Given the description of an element on the screen output the (x, y) to click on. 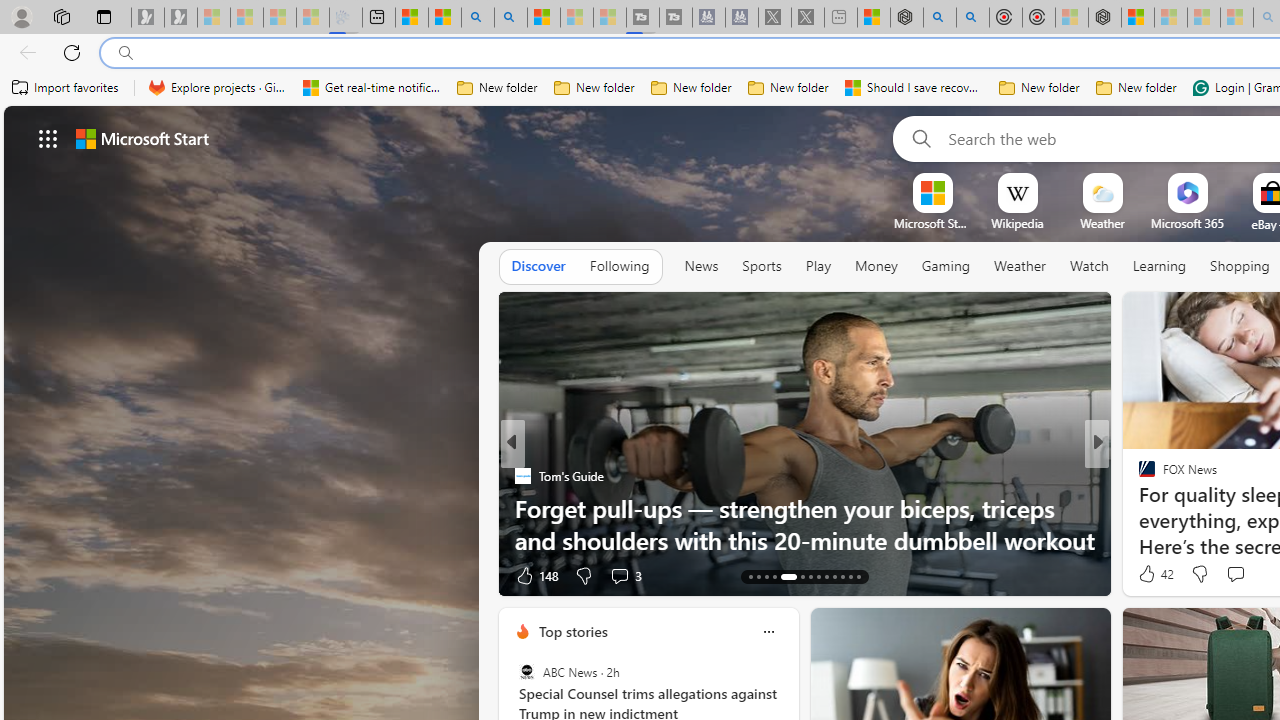
1 Like (1145, 574)
View comments 14 Comment (1237, 574)
View comments 124 Comment (1234, 575)
Weather (1020, 265)
View comments 124 Comment (1247, 574)
Class: icon-img (768, 632)
272 Like (1151, 574)
View comments 3 Comment (625, 574)
